Given the description of an element on the screen output the (x, y) to click on. 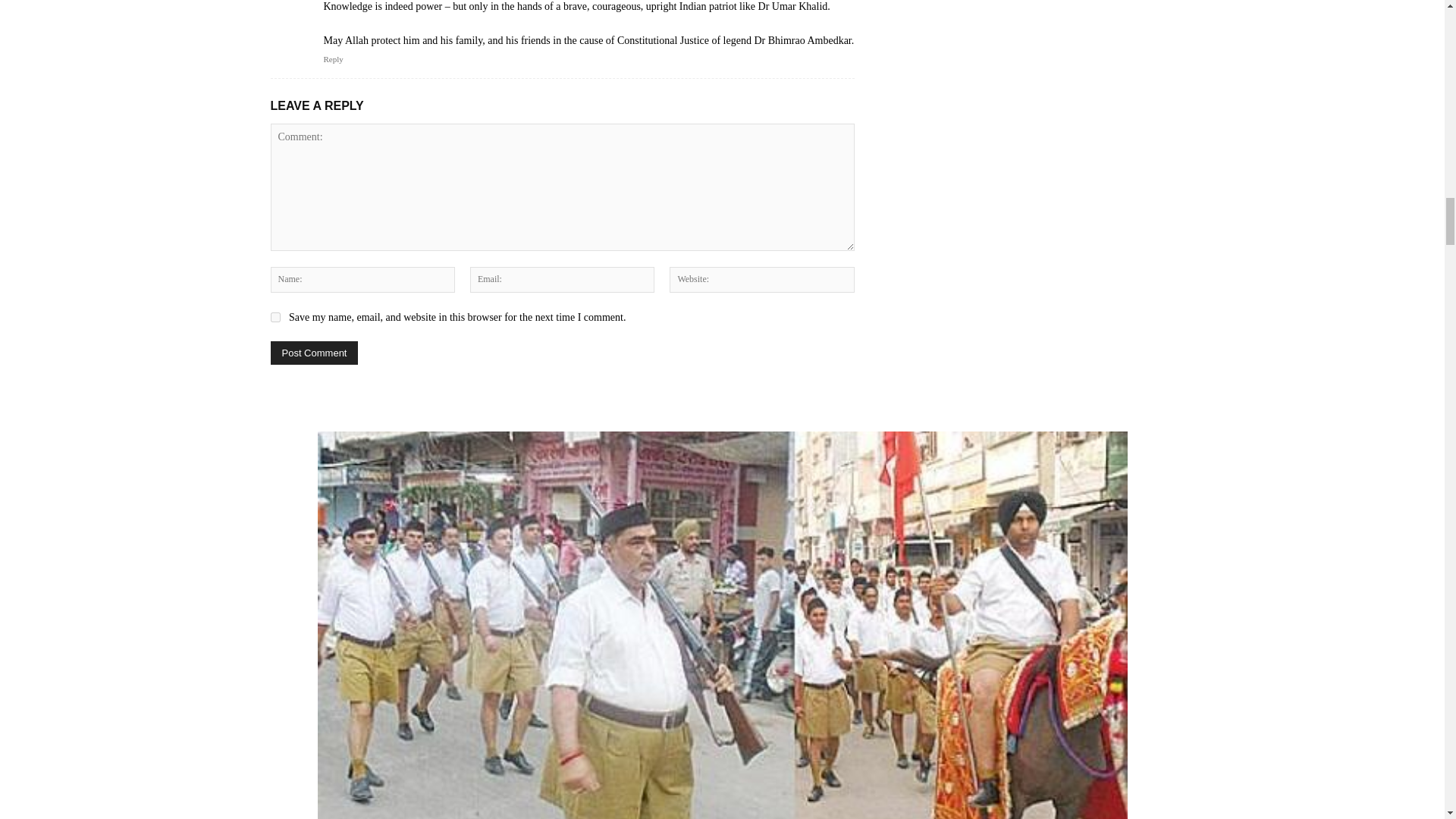
Post Comment (313, 352)
yes (274, 317)
